Given the description of an element on the screen output the (x, y) to click on. 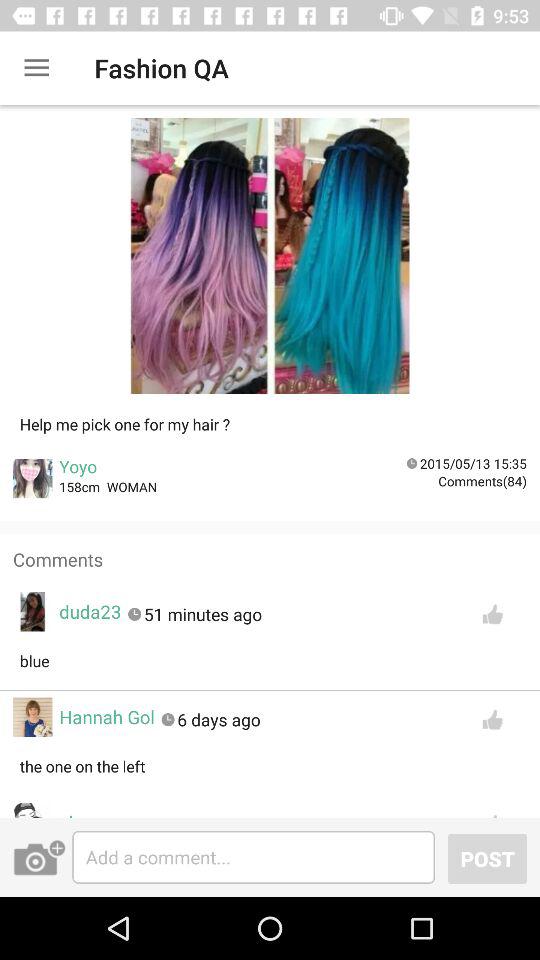
text your thoughts (253, 857)
